Given the description of an element on the screen output the (x, y) to click on. 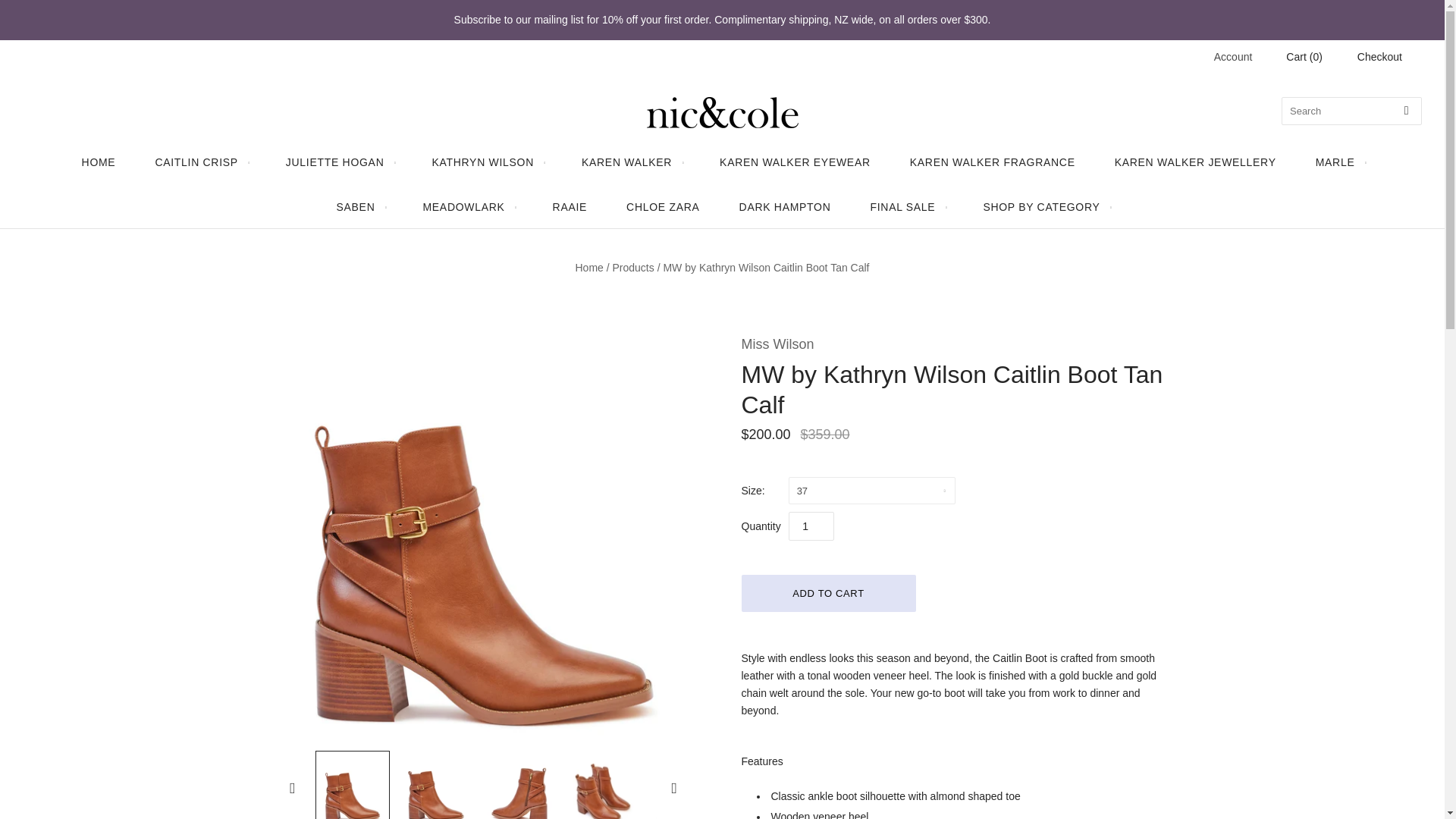
1 (811, 525)
HOME (98, 162)
KAREN WALKER JEWELLERY (1194, 162)
Account (1233, 56)
DARK HAMPTON (784, 207)
RAAIE (569, 207)
Add to cart (828, 592)
Checkout (1379, 57)
KAREN WALKER FRAGRANCE (991, 162)
KAREN WALKER EYEWEAR (794, 162)
